Given the description of an element on the screen output the (x, y) to click on. 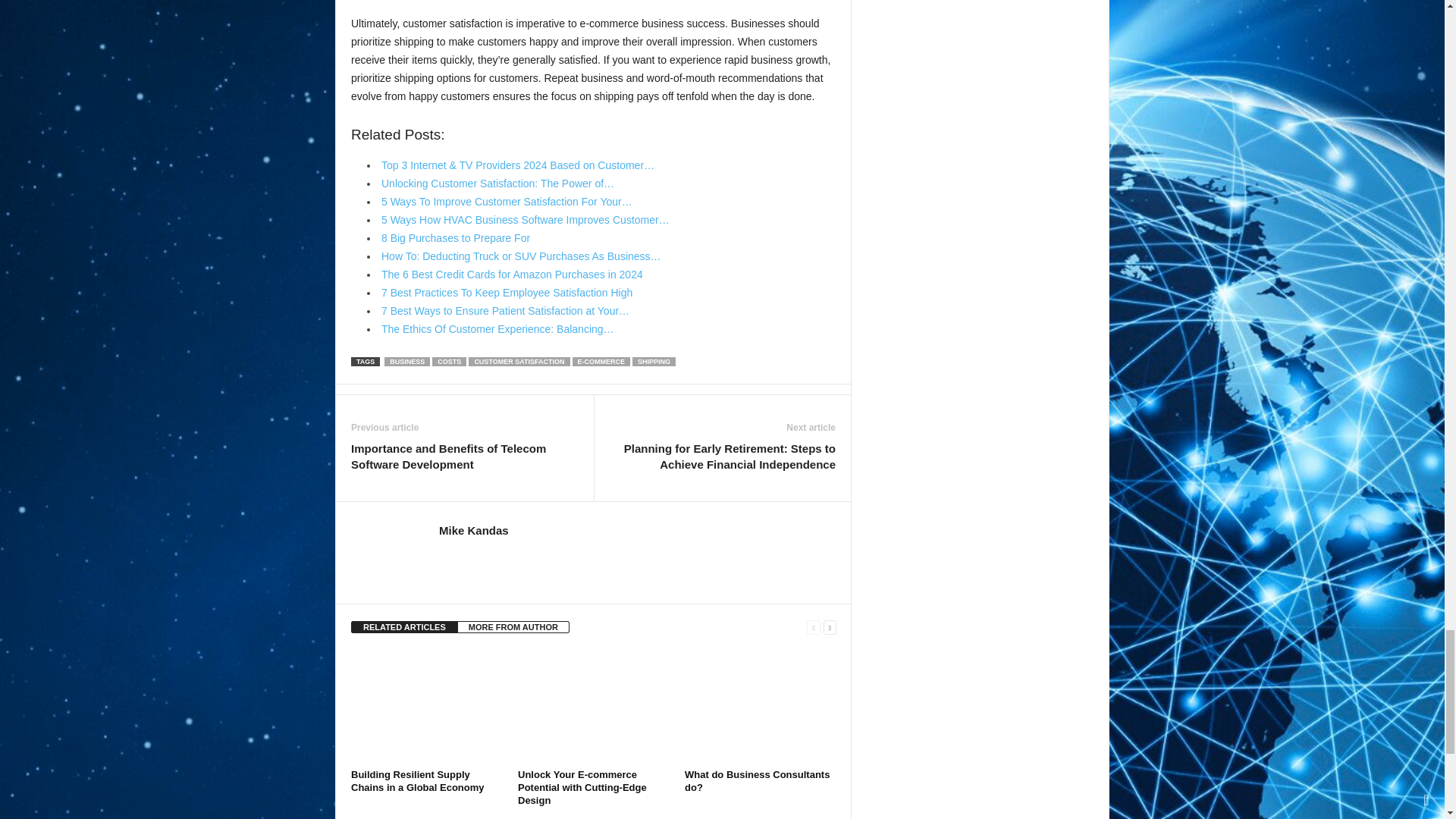
Building Resilient Supply Chains in a Global Economy (426, 706)
What do Business Consultants do? (759, 706)
Building Resilient Supply Chains in a Global Economy (417, 781)
